Given the description of an element on the screen output the (x, y) to click on. 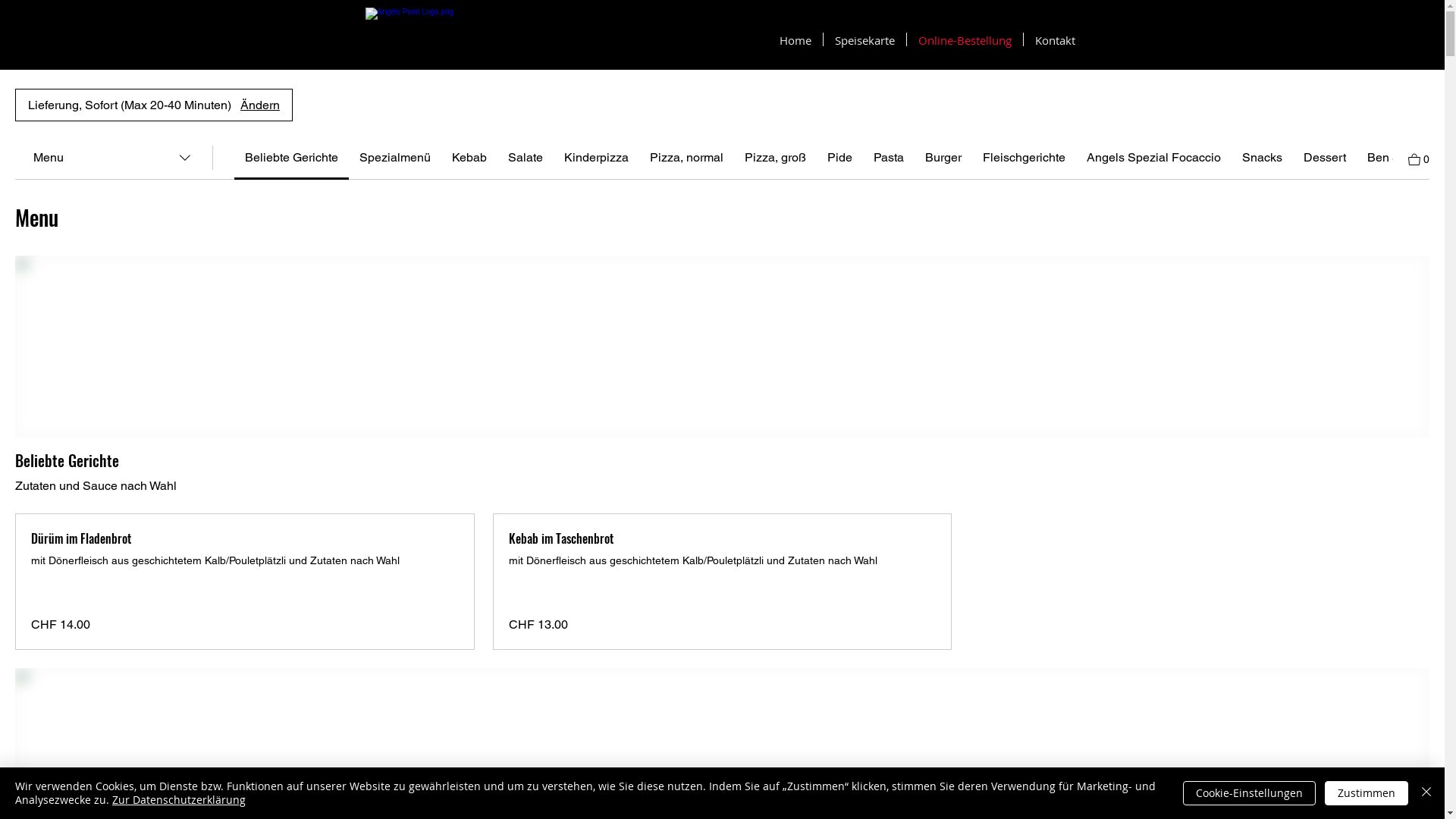
Menu Element type: text (113, 157)
Kebab im Taschenbrot Element type: text (722, 538)
Home Element type: text (794, 39)
Kontakt Element type: text (1054, 39)
Speisekarte Element type: text (864, 39)
0 Element type: text (1418, 158)
Online-Bestellung Element type: text (964, 39)
